Given the description of an element on the screen output the (x, y) to click on. 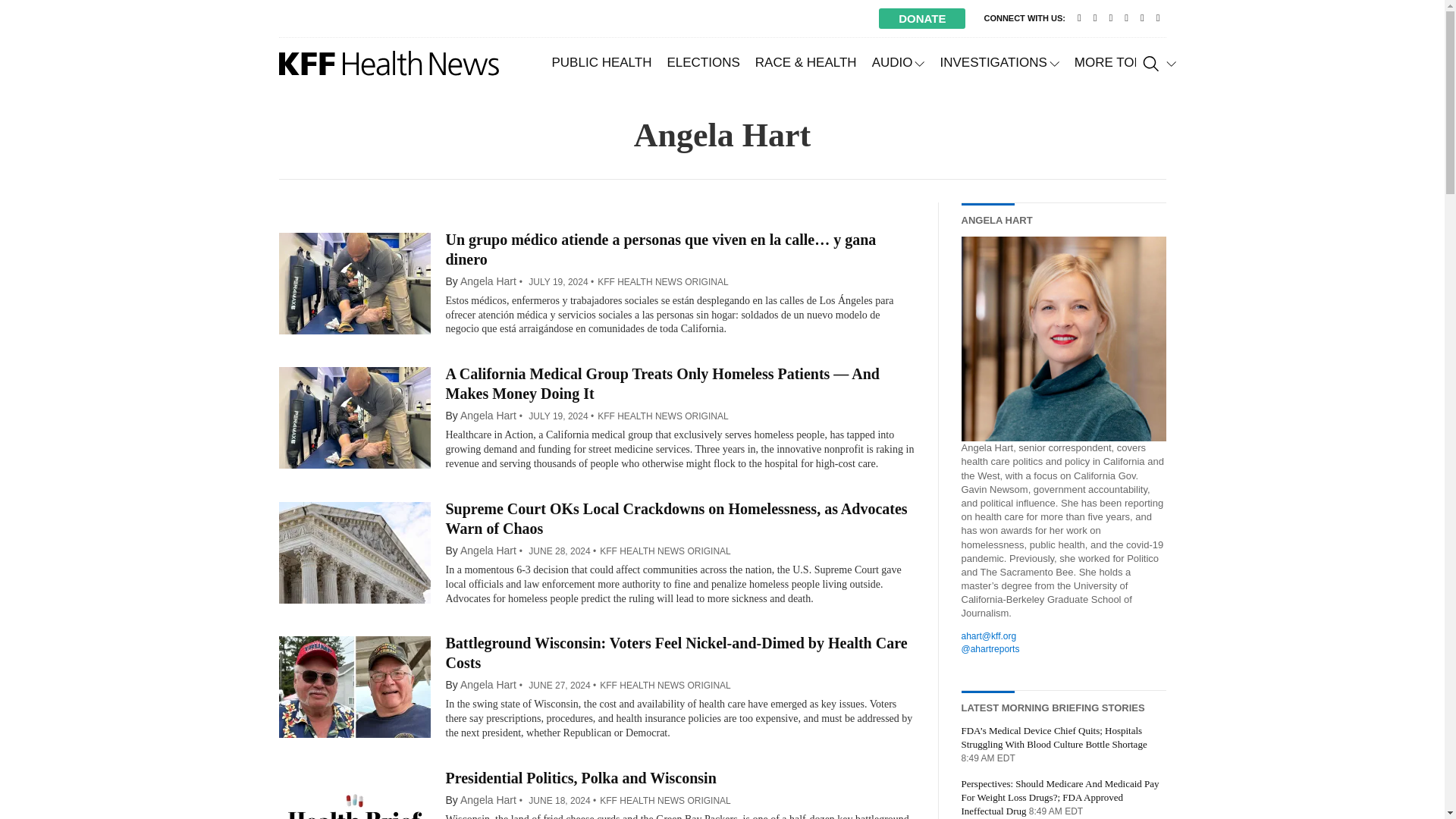
PUBLIC HEALTH (601, 61)
INVESTIGATIONS (998, 61)
ELECTIONS (702, 61)
DONATE (922, 18)
MORE TOPICS (1125, 61)
Permalink to Presidential Politics, Polka and Wisconsin (580, 777)
AUDIO (898, 61)
KFF Health News (389, 63)
